Given the description of an element on the screen output the (x, y) to click on. 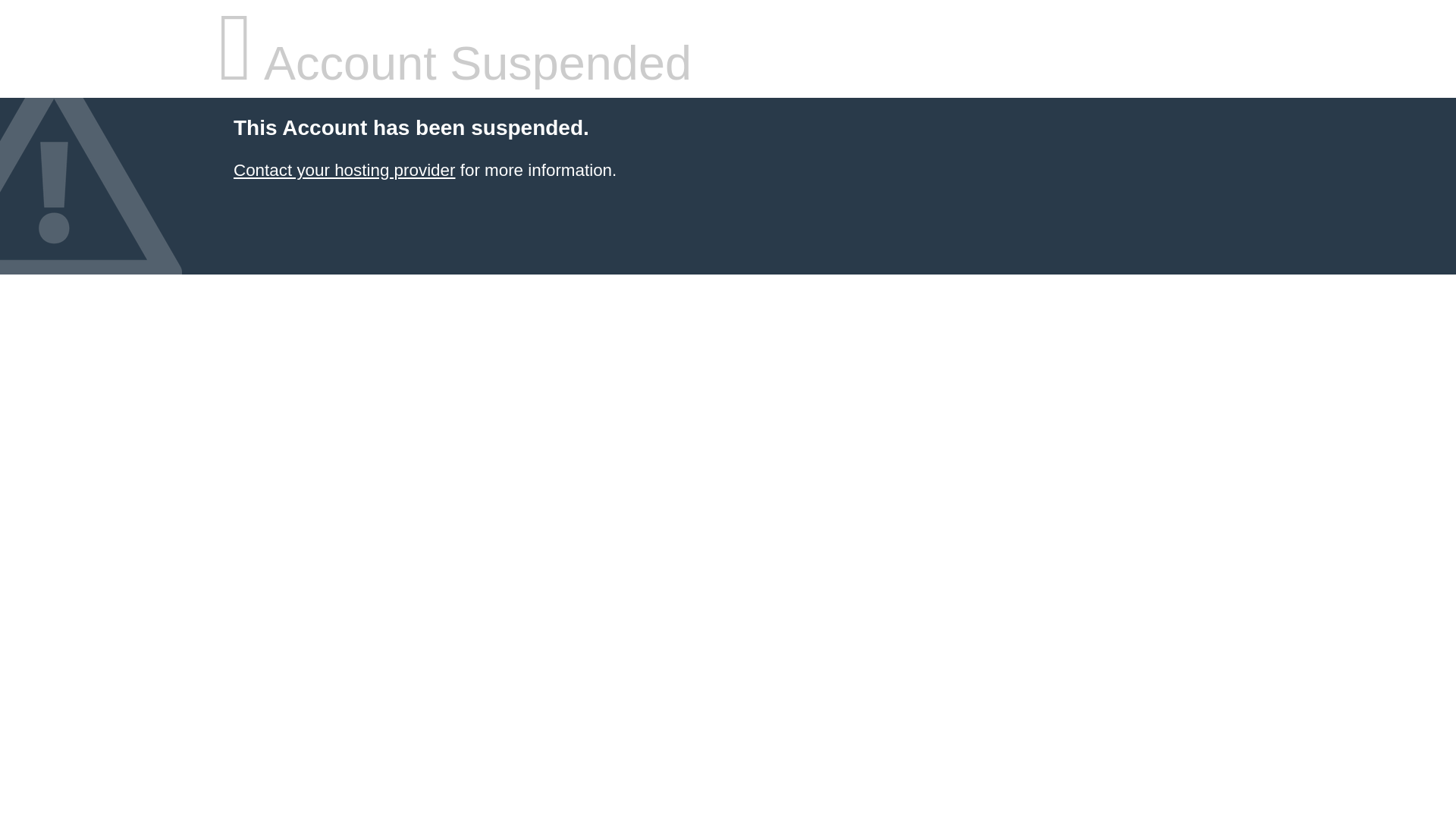
Contact your hosting provider (343, 169)
